Given the description of an element on the screen output the (x, y) to click on. 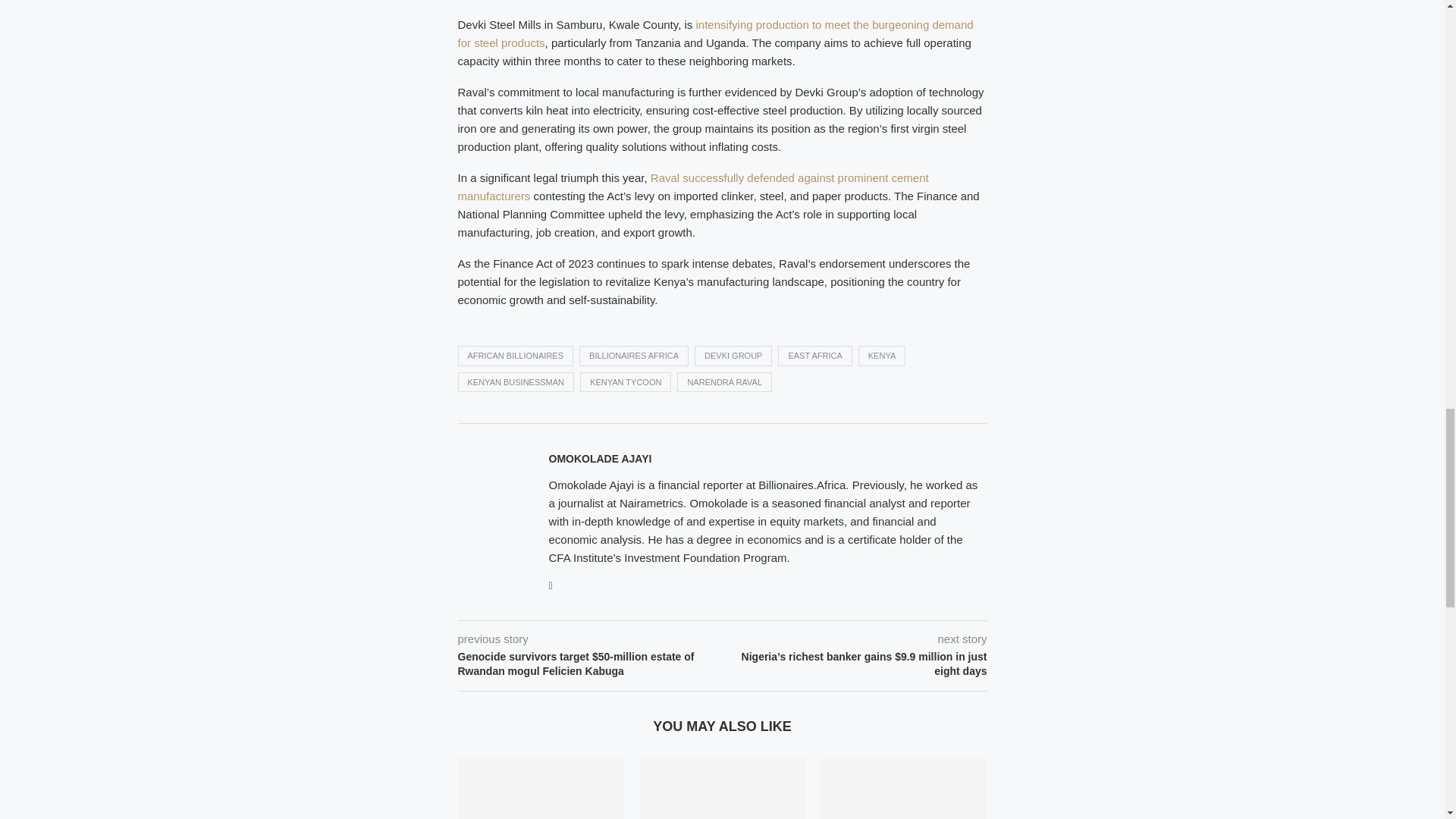
 Omokolade Ajayi (600, 458)
